Given the description of an element on the screen output the (x, y) to click on. 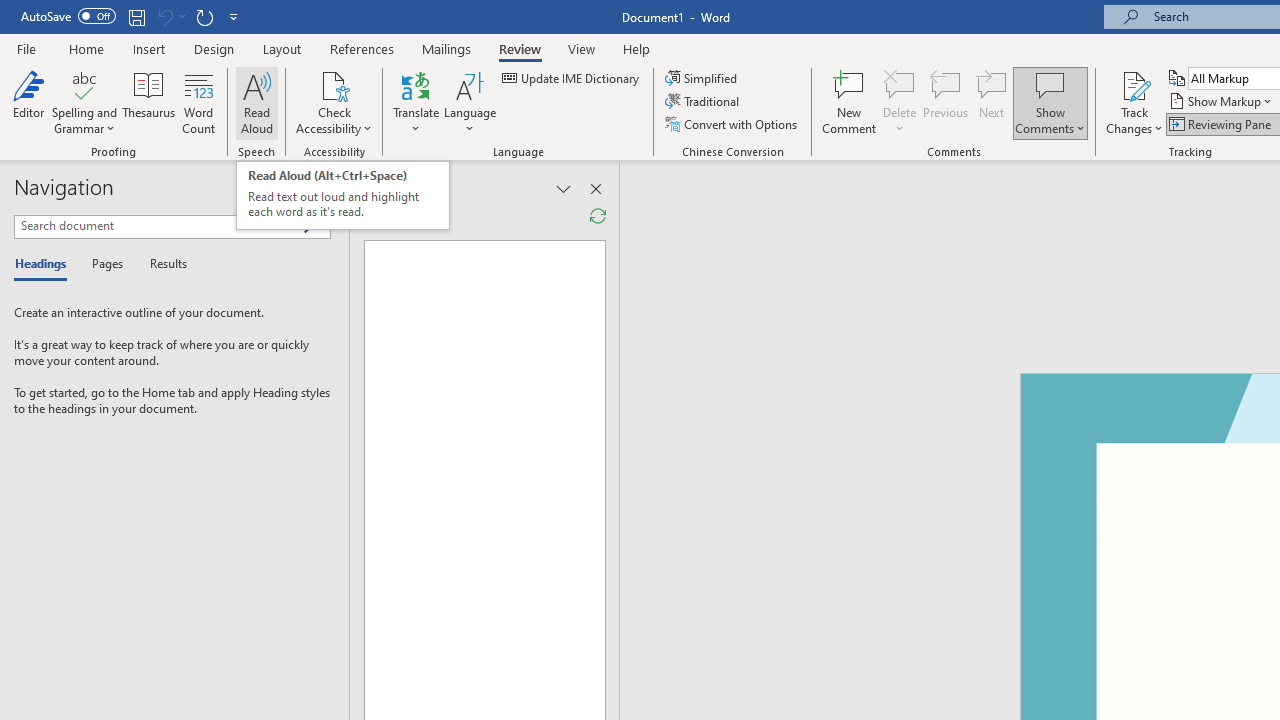
Next (991, 102)
Track Changes (1134, 84)
View (582, 48)
Class: NetUIImage (311, 226)
Insert (149, 48)
Review (520, 48)
Home (86, 48)
Convert with Options... (732, 124)
Previous (946, 102)
References (362, 48)
Show Comments (1050, 84)
Reviewing Pane (1221, 124)
Update IME Dictionary... (572, 78)
